Given the description of an element on the screen output the (x, y) to click on. 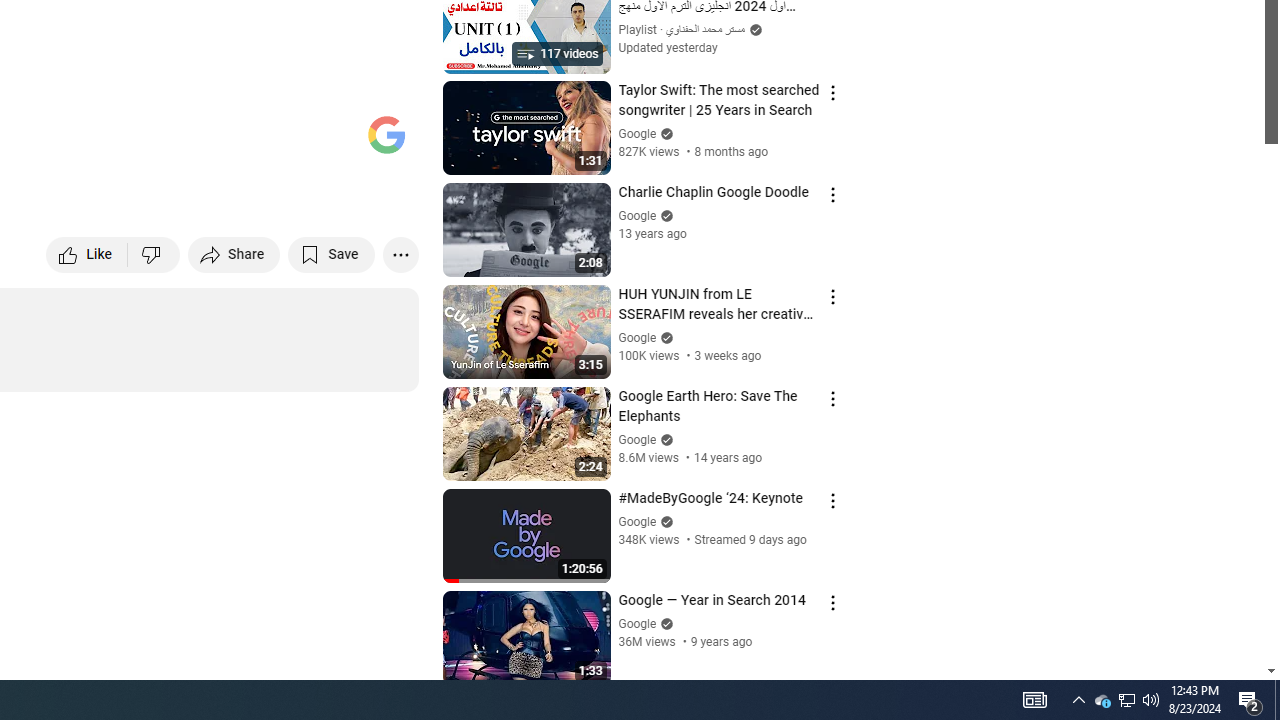
Subtitles/closed captions unavailable (190, 142)
Share (234, 254)
Dislike this video (154, 254)
More actions (399, 254)
Channel watermark (386, 134)
Miniplayer (i) (286, 142)
Theater mode (t) (333, 142)
Save to playlist (331, 254)
Settings (237, 142)
Full screen (f) (382, 142)
